Given the description of an element on the screen output the (x, y) to click on. 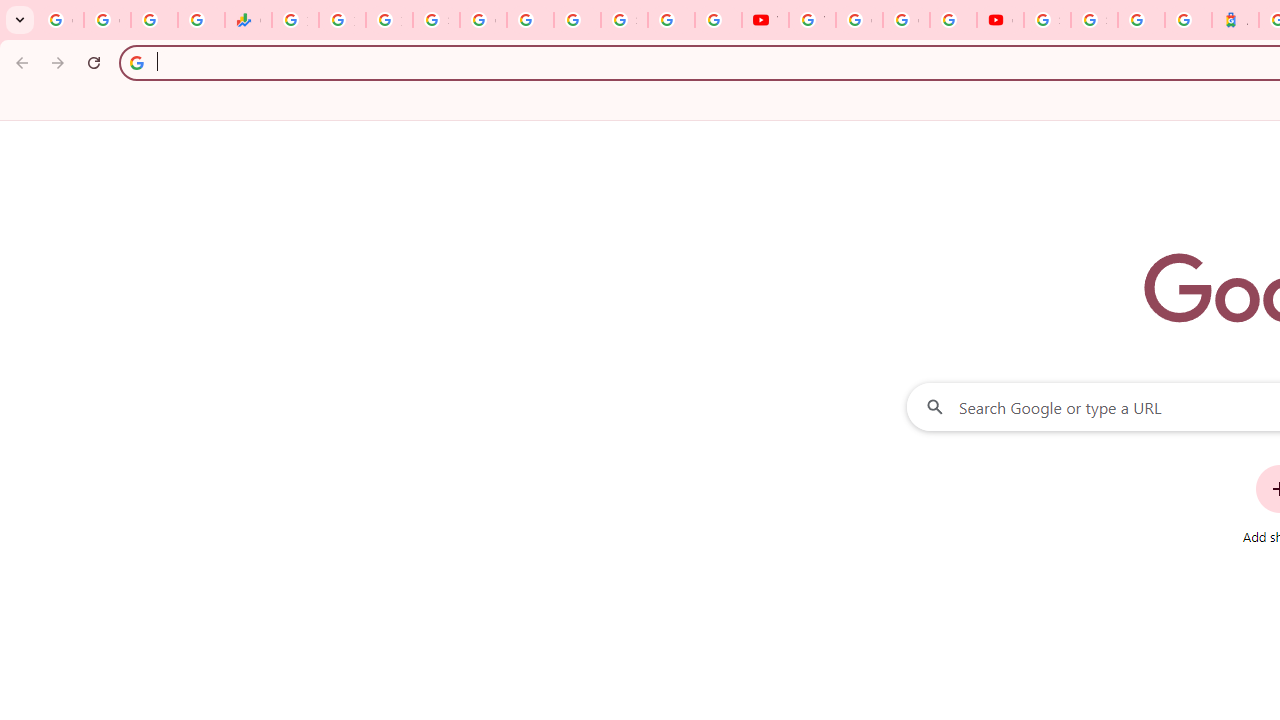
YouTube (765, 20)
